Given the description of an element on the screen output the (x, y) to click on. 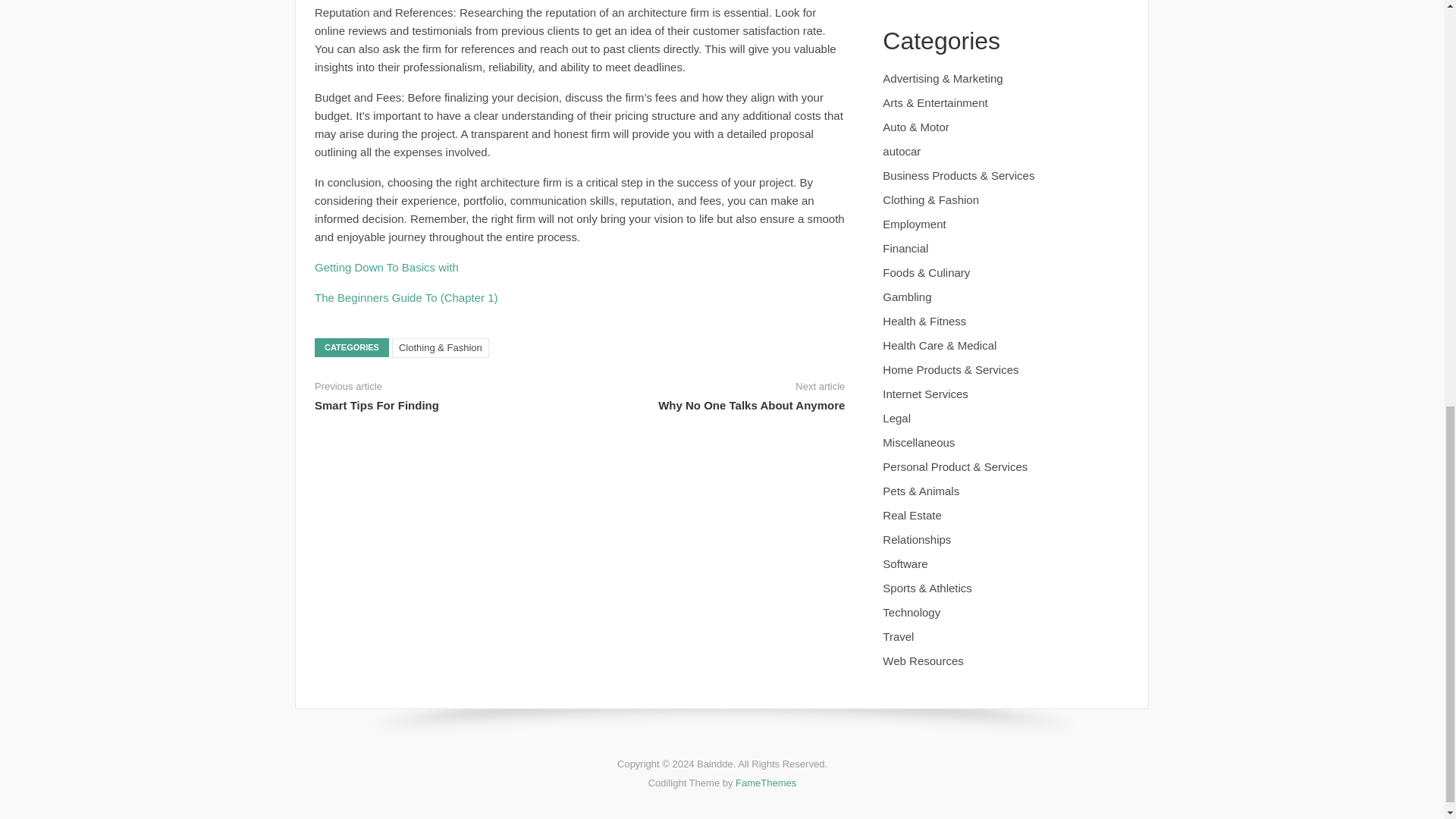
Gambling (906, 296)
Getting Down To Basics with (386, 267)
autocar (901, 151)
October 2022 (917, 1)
Why No One Talks About Anymore (751, 404)
Financial (905, 247)
Smart Tips For Finding (376, 404)
Employment (913, 223)
